Given the description of an element on the screen output the (x, y) to click on. 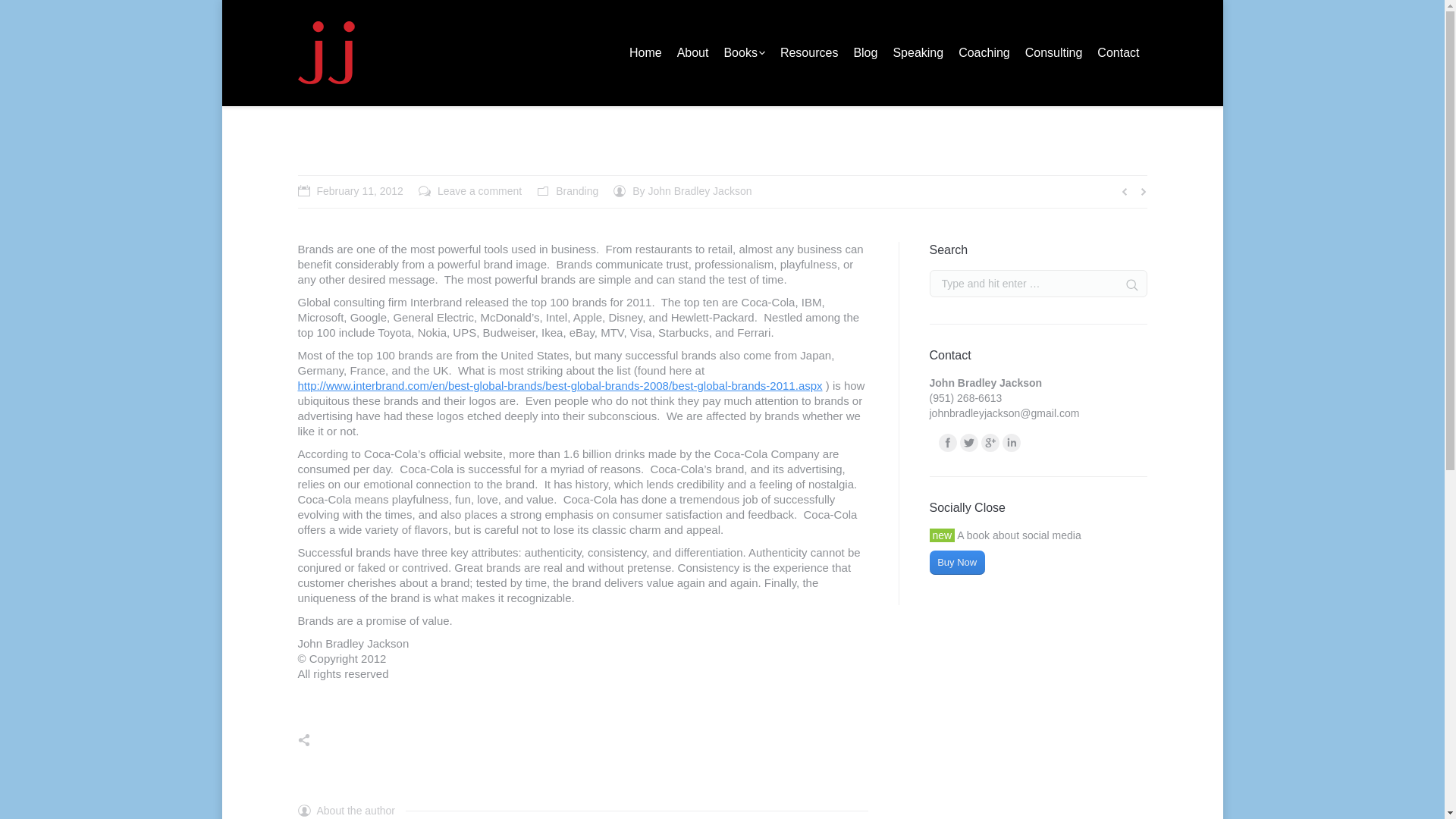
Home (645, 52)
Blog (865, 52)
Books (743, 52)
Share this (319, 739)
Resources (809, 52)
Speaking (917, 52)
Facebook (947, 443)
Contact (1118, 52)
About (692, 52)
Coaching (983, 52)
